Given the description of an element on the screen output the (x, y) to click on. 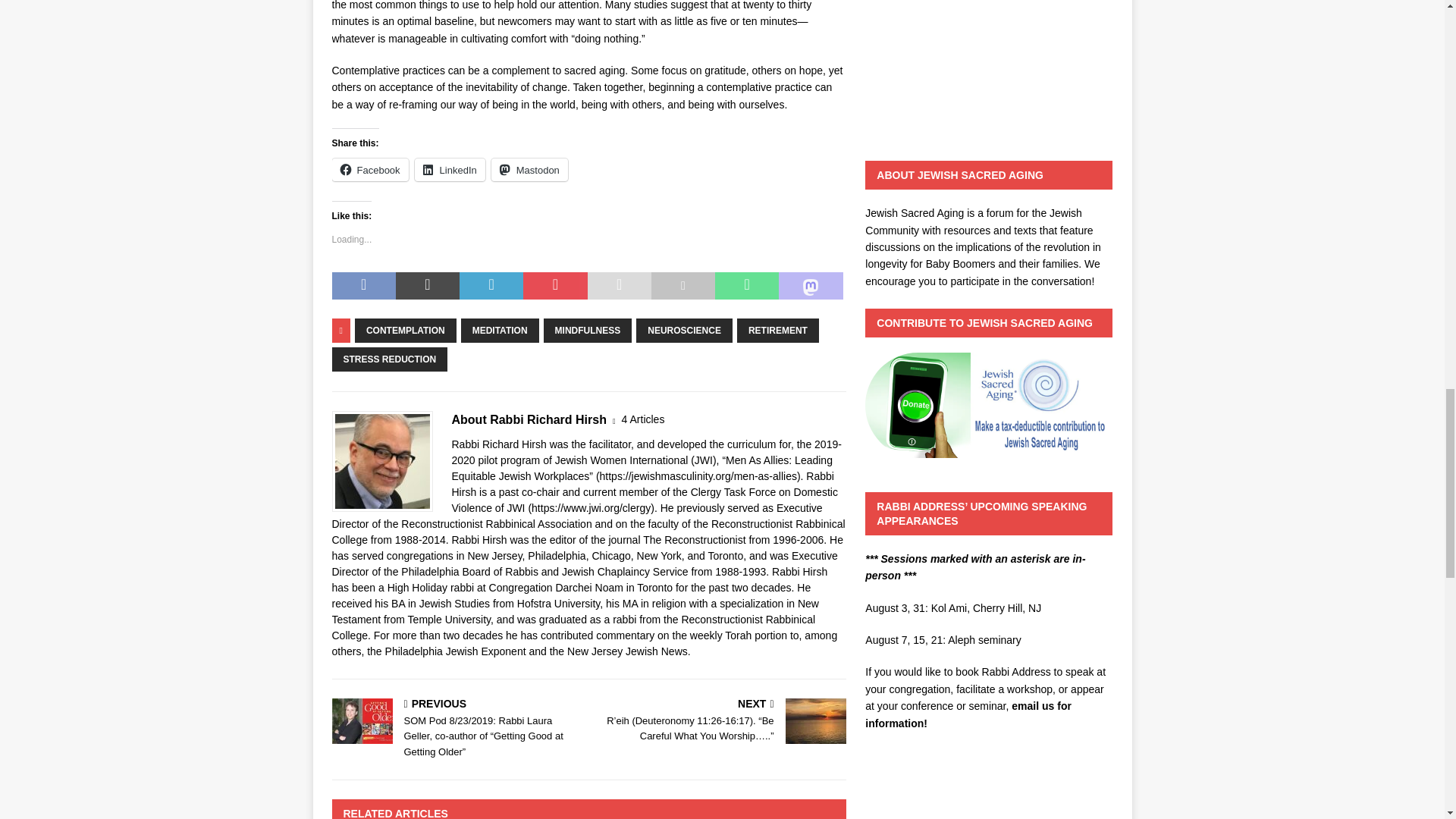
Pin This Post (554, 285)
Print this article (682, 285)
LinkedIn (449, 169)
Click to share on Facebook (370, 169)
More articles written by Rabbi Richard Hirsh' (643, 419)
Click to share on Mastodon (529, 169)
Mastodon (529, 169)
Share on Facebook (363, 285)
Share on LinkedIn (491, 285)
Share on Whatsapp (746, 285)
